Given the description of an element on the screen output the (x, y) to click on. 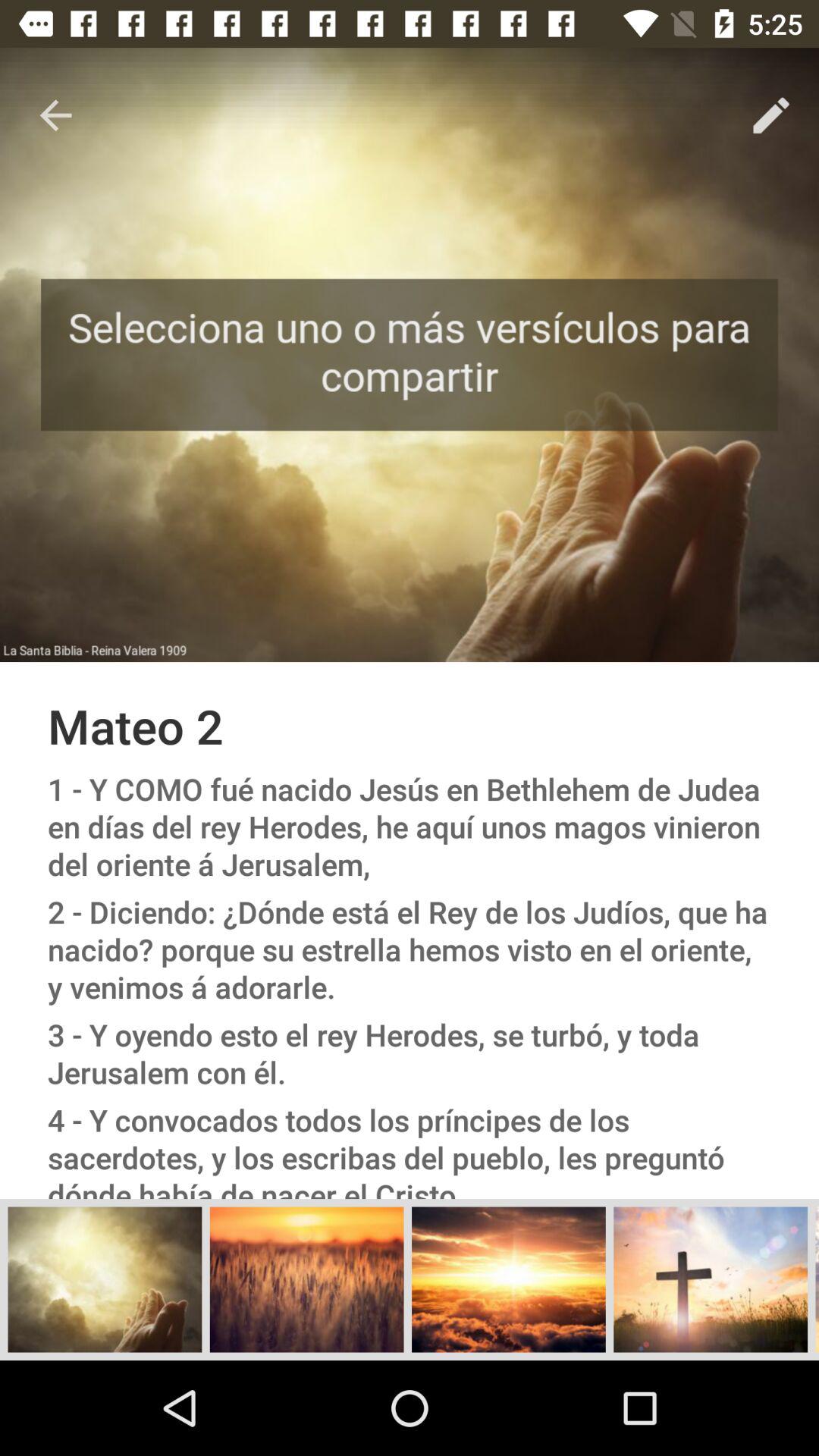
flip until 1 y como icon (409, 826)
